Given the description of an element on the screen output the (x, y) to click on. 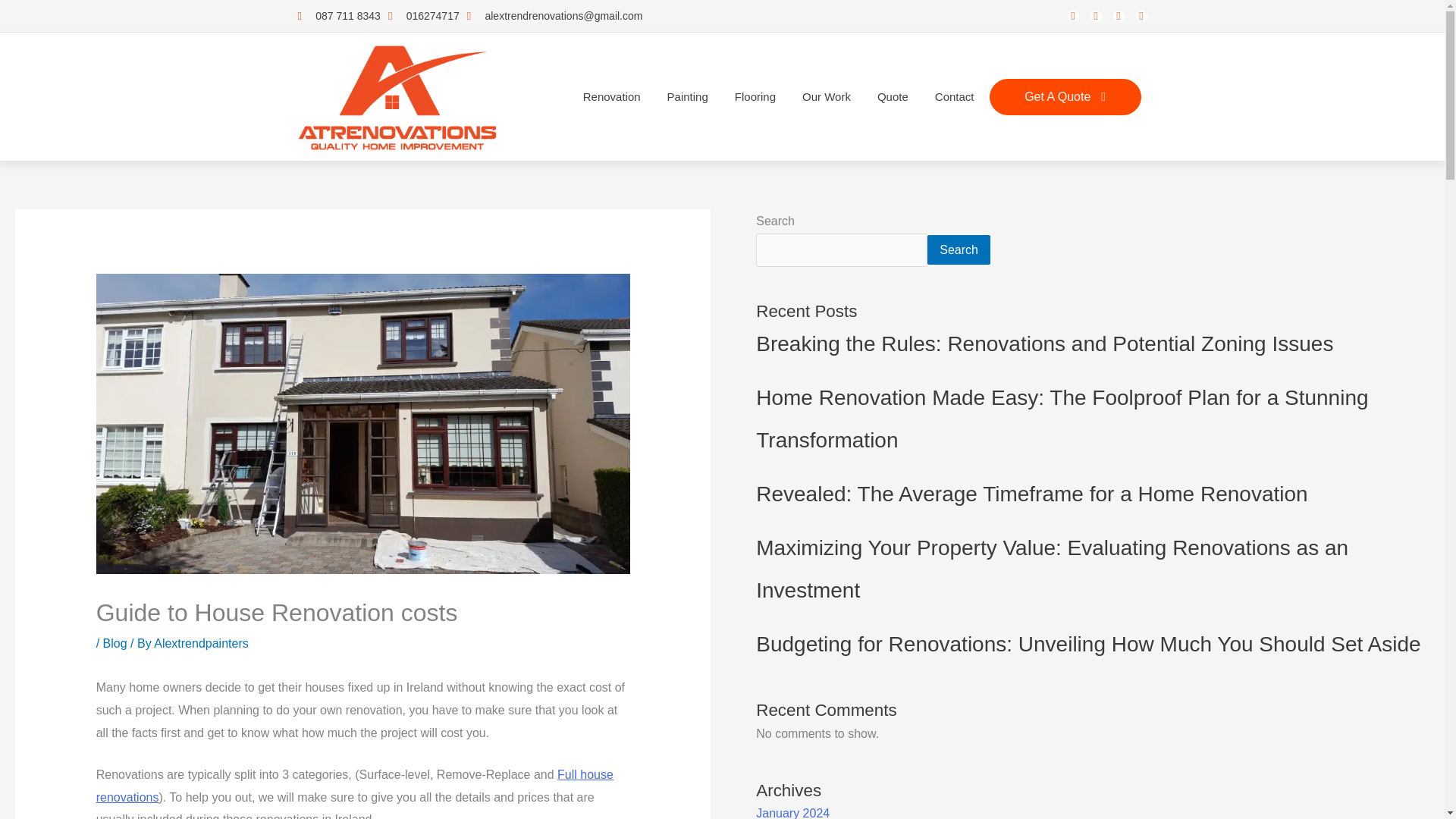
Youtube (1141, 16)
016274717 (424, 15)
Facebook (1072, 16)
Guide to House Renovation costs 2 (363, 422)
Painting (686, 96)
Quote (892, 96)
Renovation (611, 96)
087 711 8343 (338, 15)
Twitter (1096, 16)
View all posts by Alextrendpainters (201, 643)
